Given the description of an element on the screen output the (x, y) to click on. 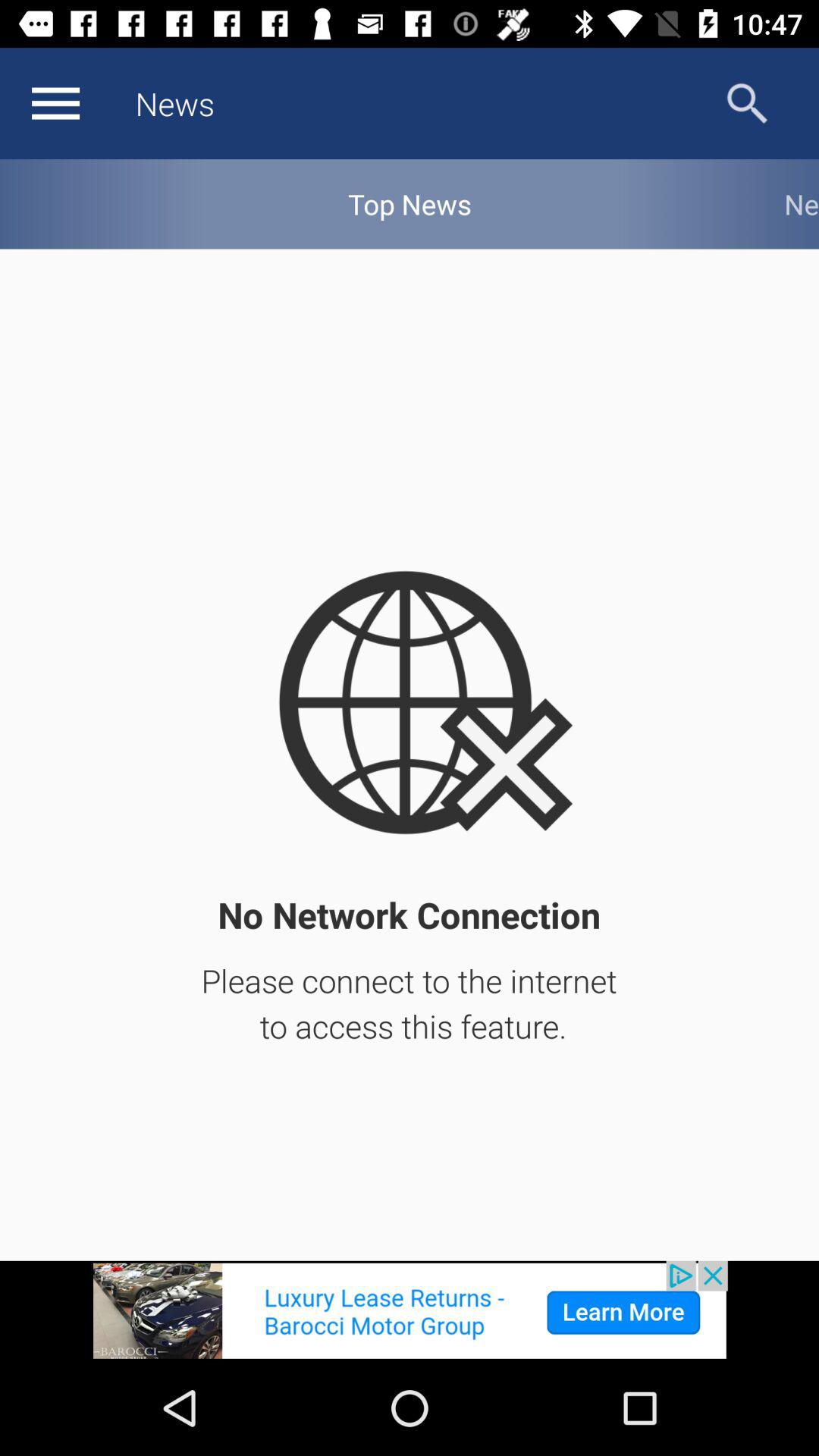
advertisement (409, 1310)
